Given the description of an element on the screen output the (x, y) to click on. 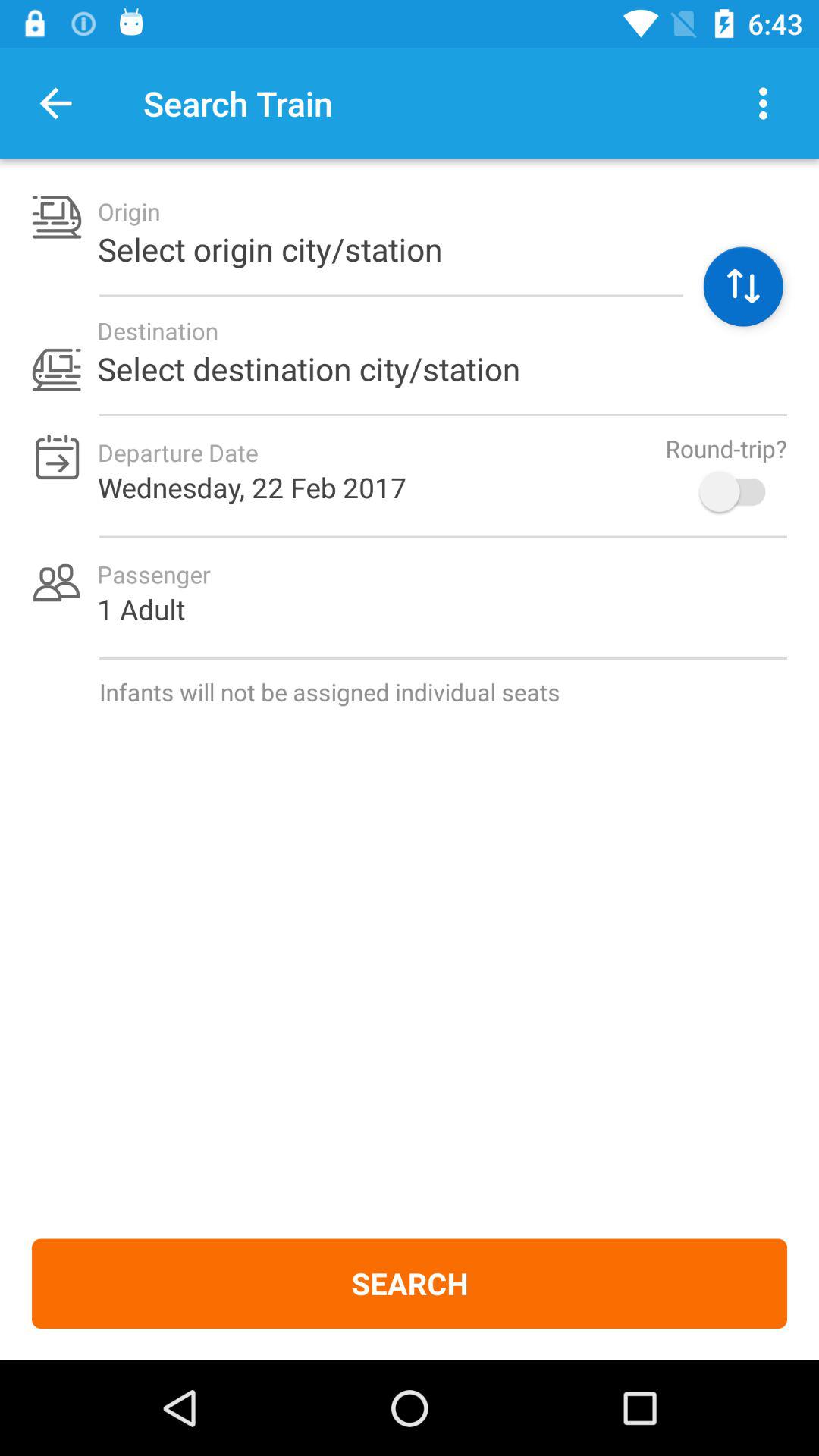
turn on item to the right of select origin city (743, 286)
